Given the description of an element on the screen output the (x, y) to click on. 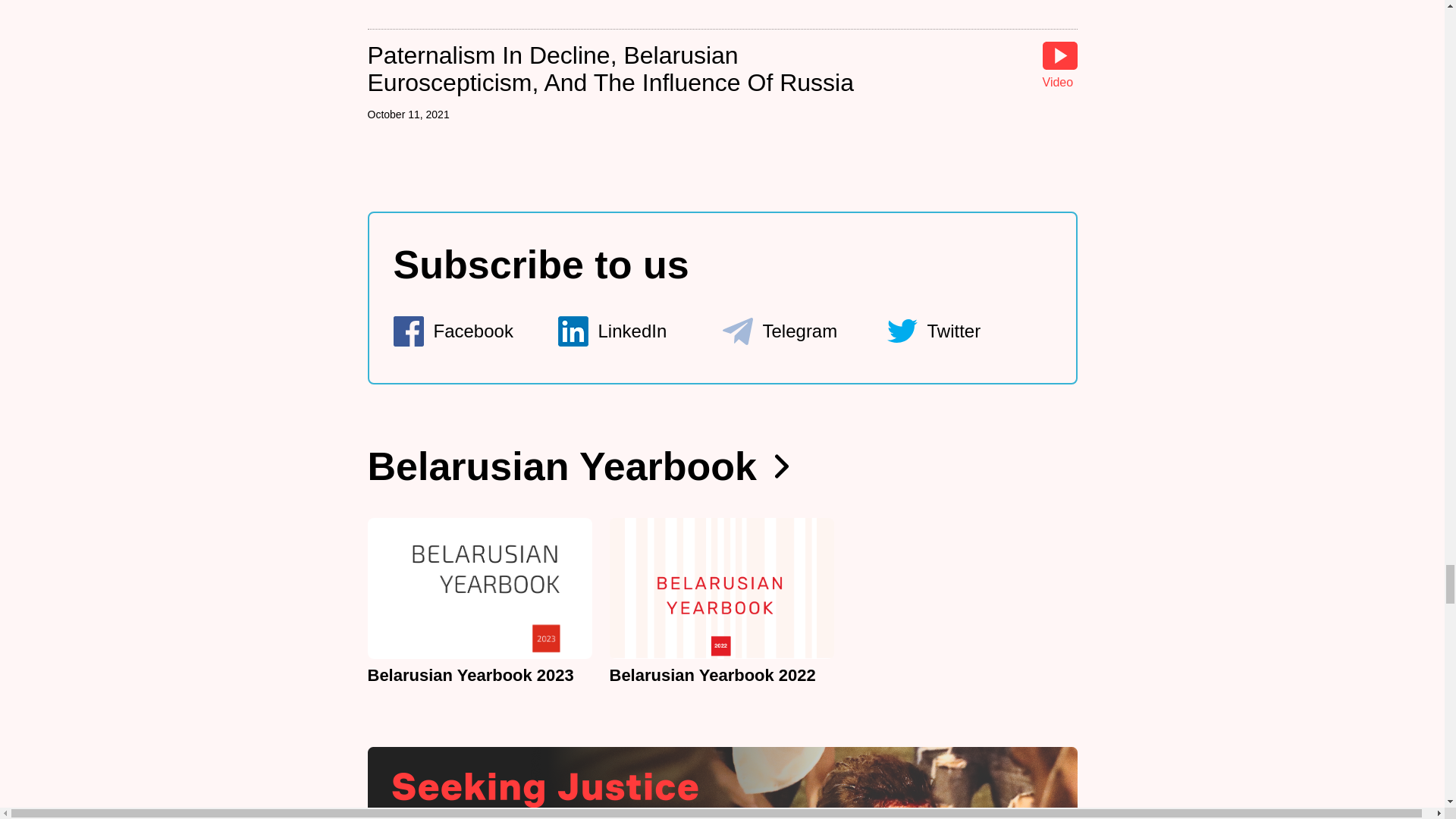
LinkedIn (639, 331)
Telegram (804, 331)
Facebook (475, 331)
Belarusian Yearbook 2022 (722, 601)
Twitter (968, 331)
Belarusian Yearbook 2023 (478, 601)
Belarusian Yearbook (577, 466)
